Given the description of an element on the screen output the (x, y) to click on. 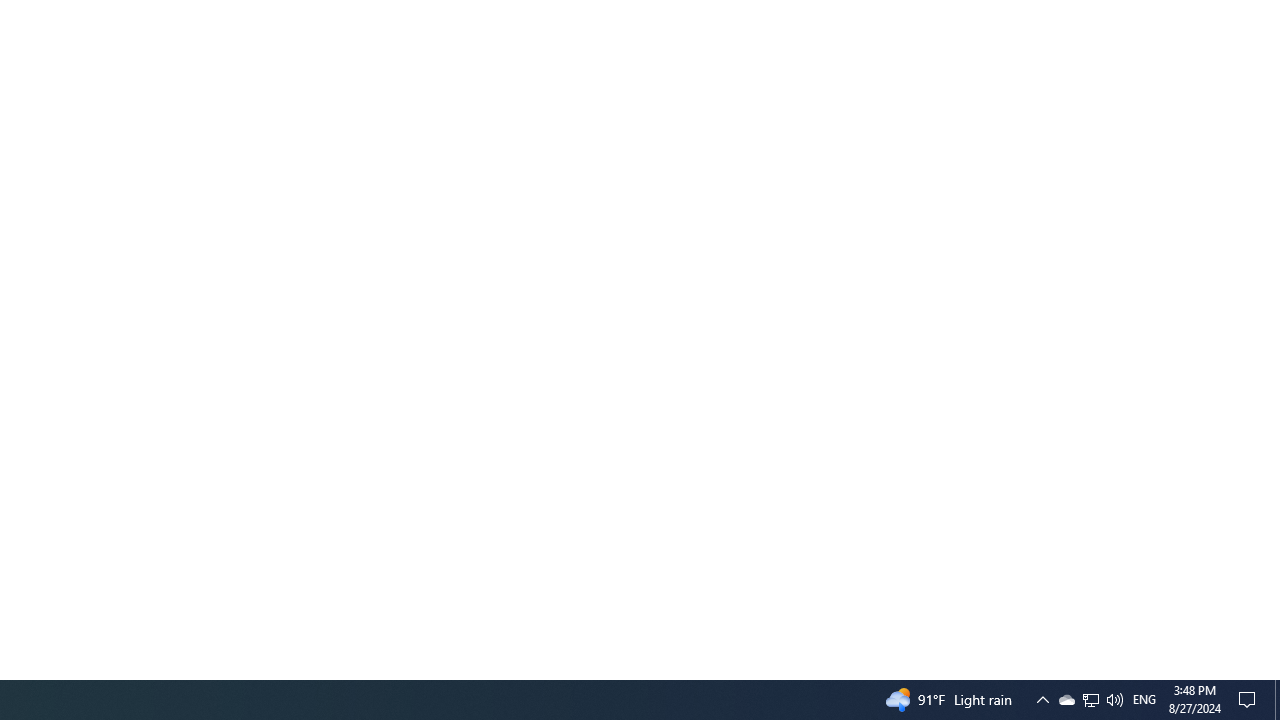
Tray Input Indicator - English (United States) (1144, 699)
